Given the description of an element on the screen output the (x, y) to click on. 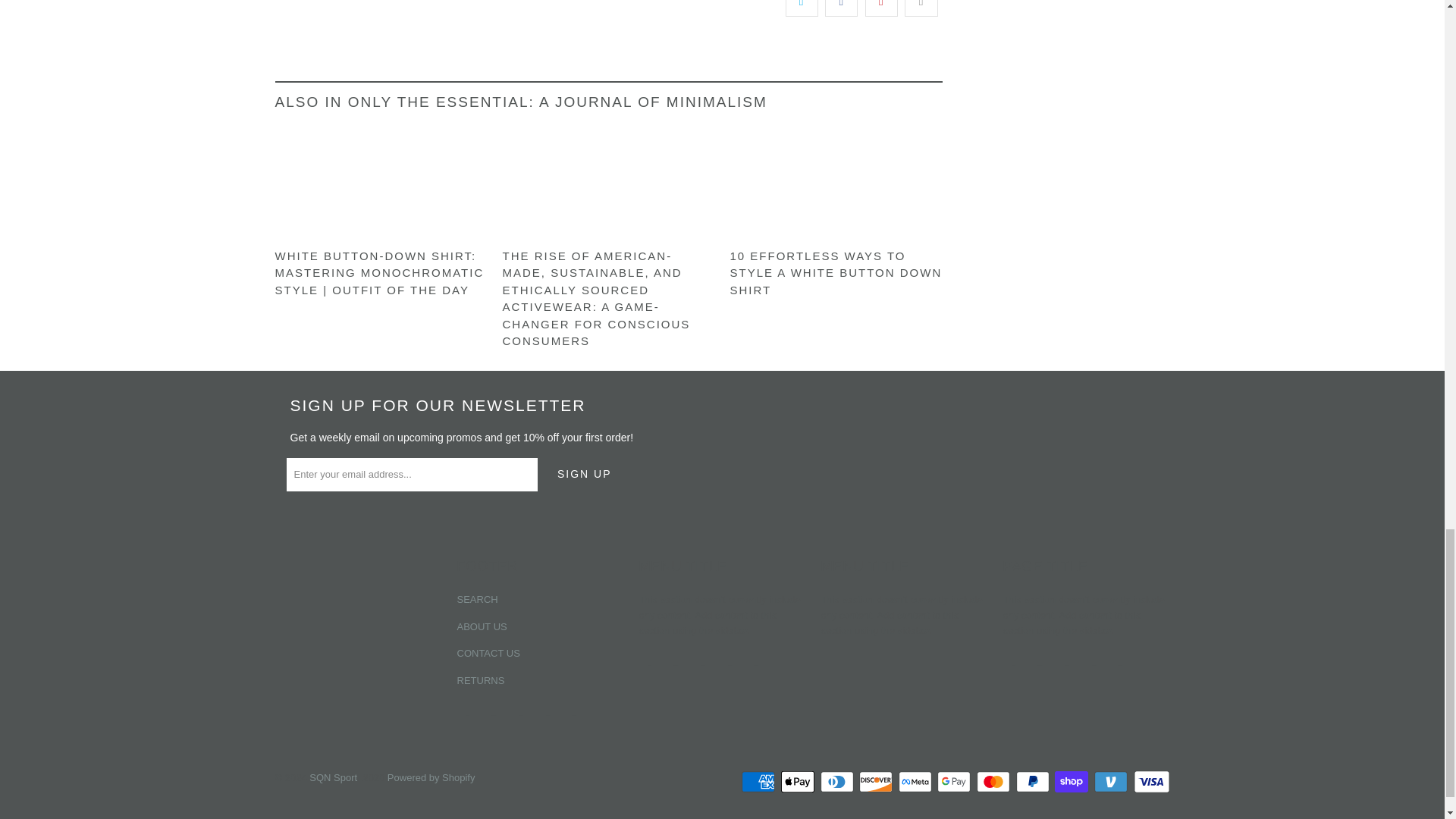
Sign Up (584, 474)
Share this on Facebook (841, 8)
Apple Pay (798, 781)
Email this to a friend (920, 8)
Visa (1150, 781)
Diners Club (839, 781)
American Express (759, 781)
Discover (877, 781)
Meta Pay (916, 781)
Mastercard (994, 781)
Shop Pay (1072, 781)
Venmo (1112, 781)
Google Pay (955, 781)
Share this on Pinterest (881, 8)
Share this on Twitter (802, 8)
